Given the description of an element on the screen output the (x, y) to click on. 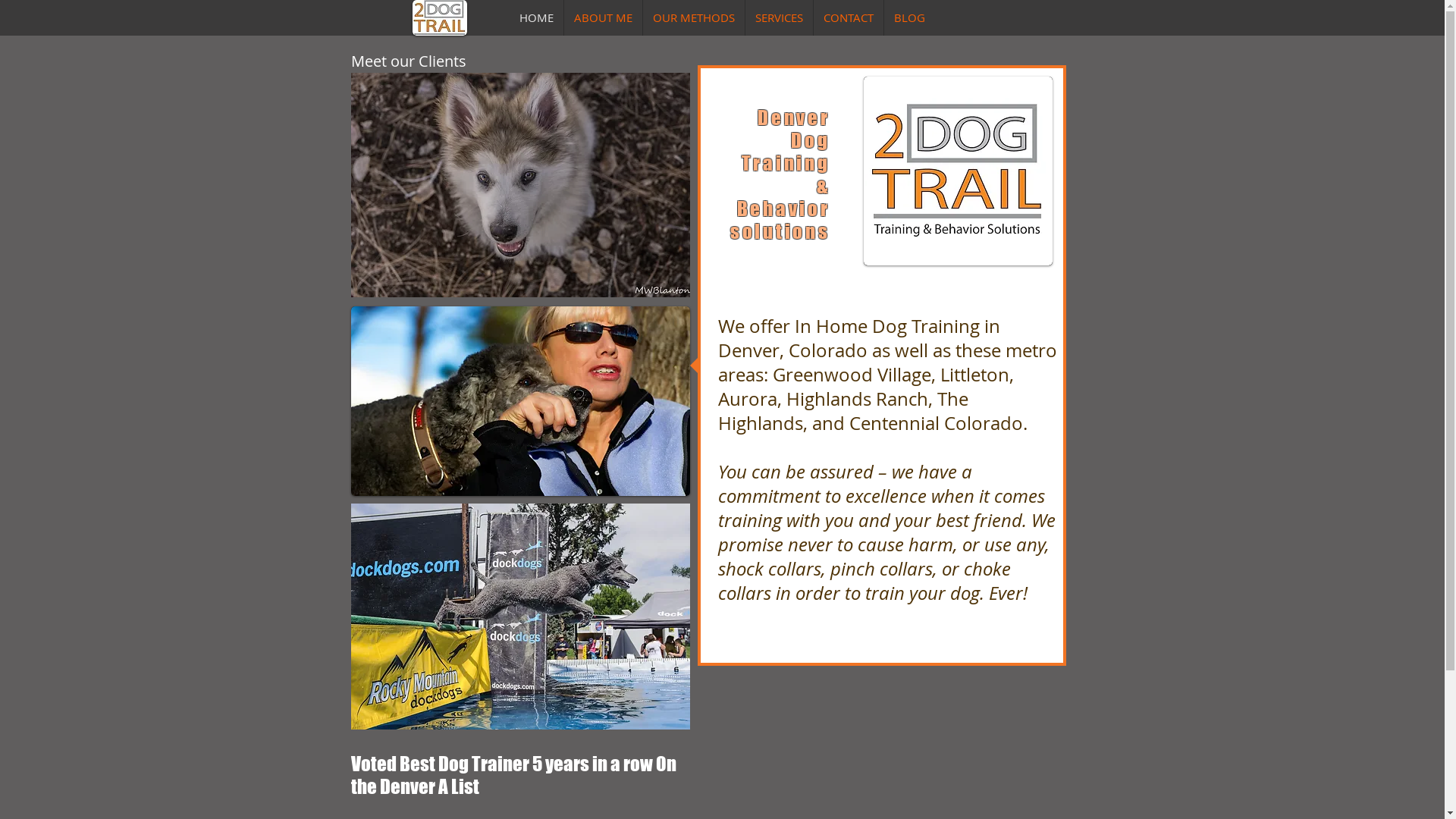
OUR METHODS Element type: text (693, 17)
ABOUT ME Element type: text (603, 17)
HOME Element type: text (536, 17)
CONTACT Element type: text (847, 17)
BLOG Element type: text (909, 17)
SERVICES Element type: text (778, 17)
Best Element type: text (416, 763)
max dock excellent.jpg Element type: hover (519, 616)
